Given the description of an element on the screen output the (x, y) to click on. 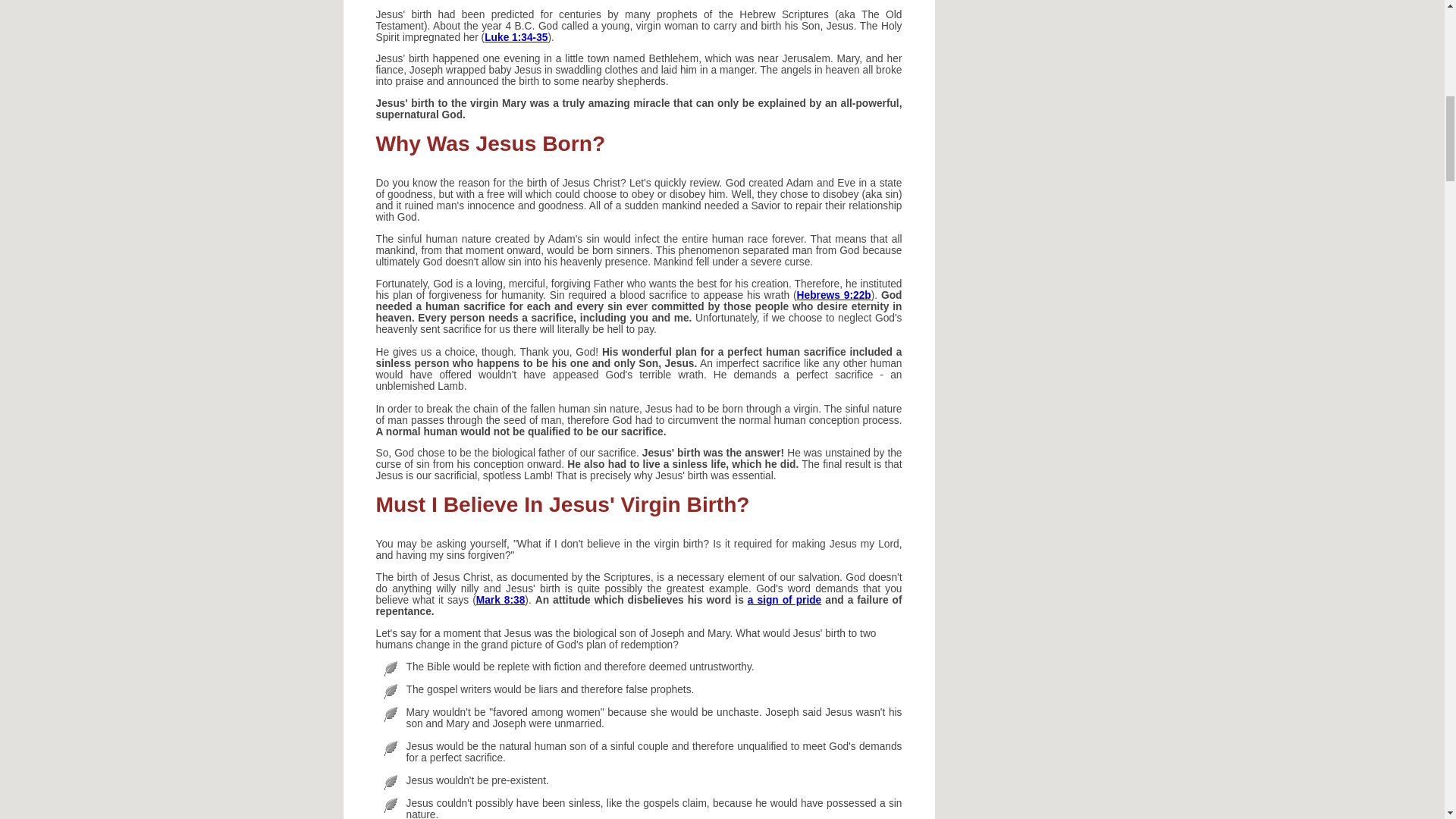
Luke 1:34-35 (515, 37)
Mark 8:38 (500, 600)
Hebrews 9:22b (833, 295)
a sign of pride (784, 600)
